Given the description of an element on the screen output the (x, y) to click on. 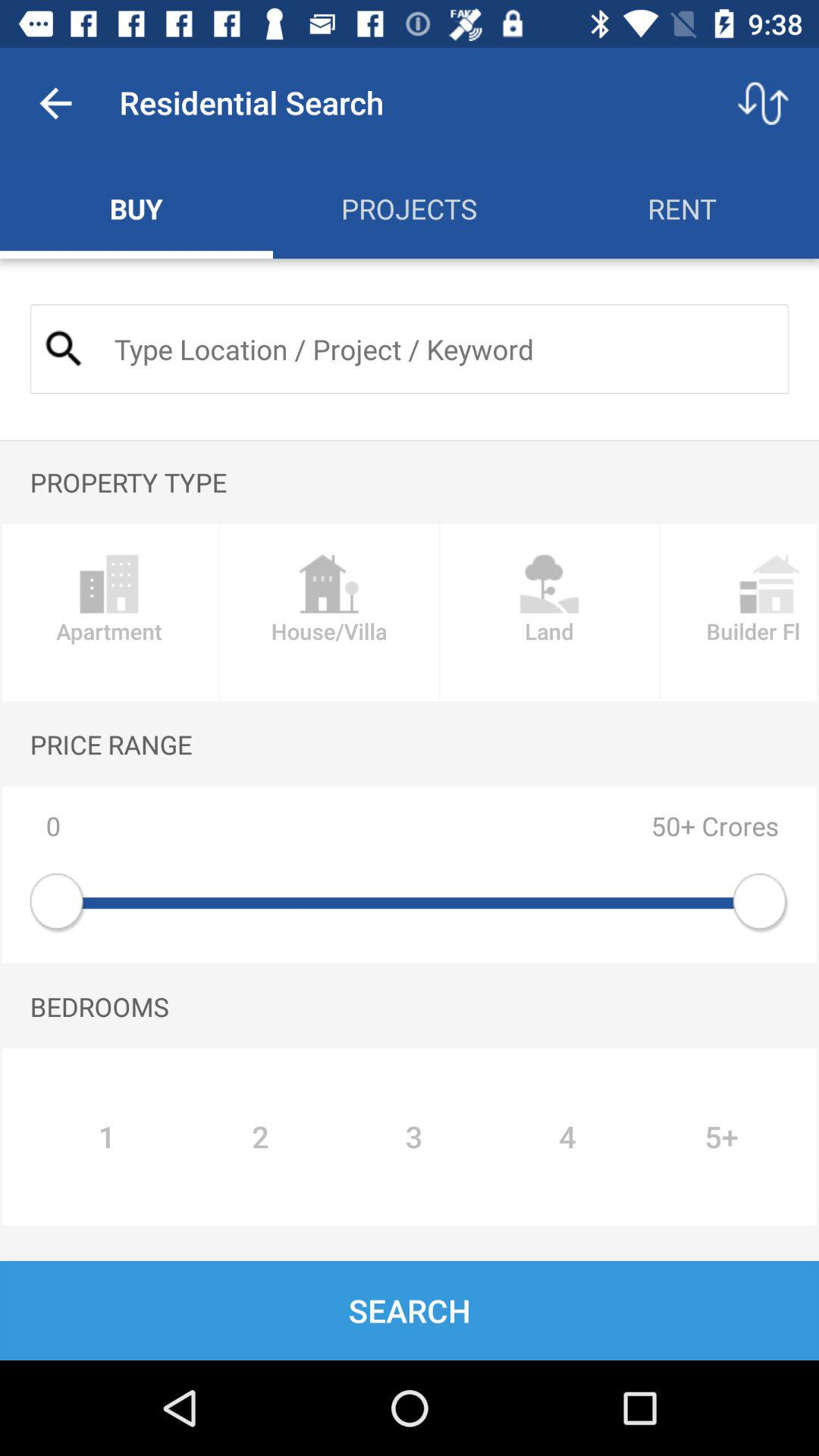
tap the 1 (106, 1137)
